Given the description of an element on the screen output the (x, y) to click on. 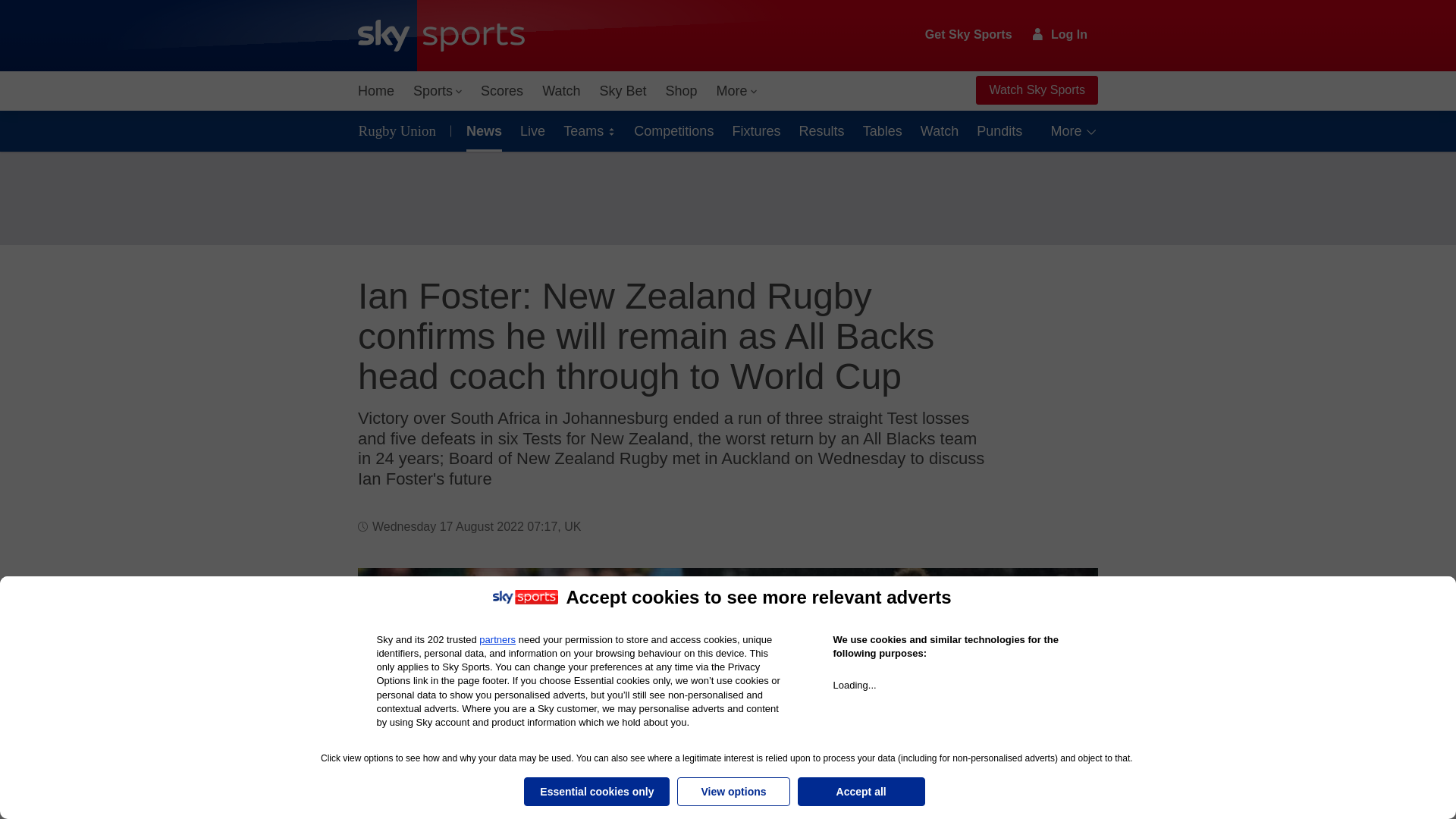
Scores (502, 91)
Shop (681, 91)
Sky Bet (622, 91)
News (481, 130)
Get Sky Sports (968, 34)
Log In (1060, 33)
More (736, 91)
Home (375, 91)
Rugby Union (400, 130)
Sports (437, 91)
Watch (561, 91)
Watch Sky Sports (1036, 90)
